Given the description of an element on the screen output the (x, y) to click on. 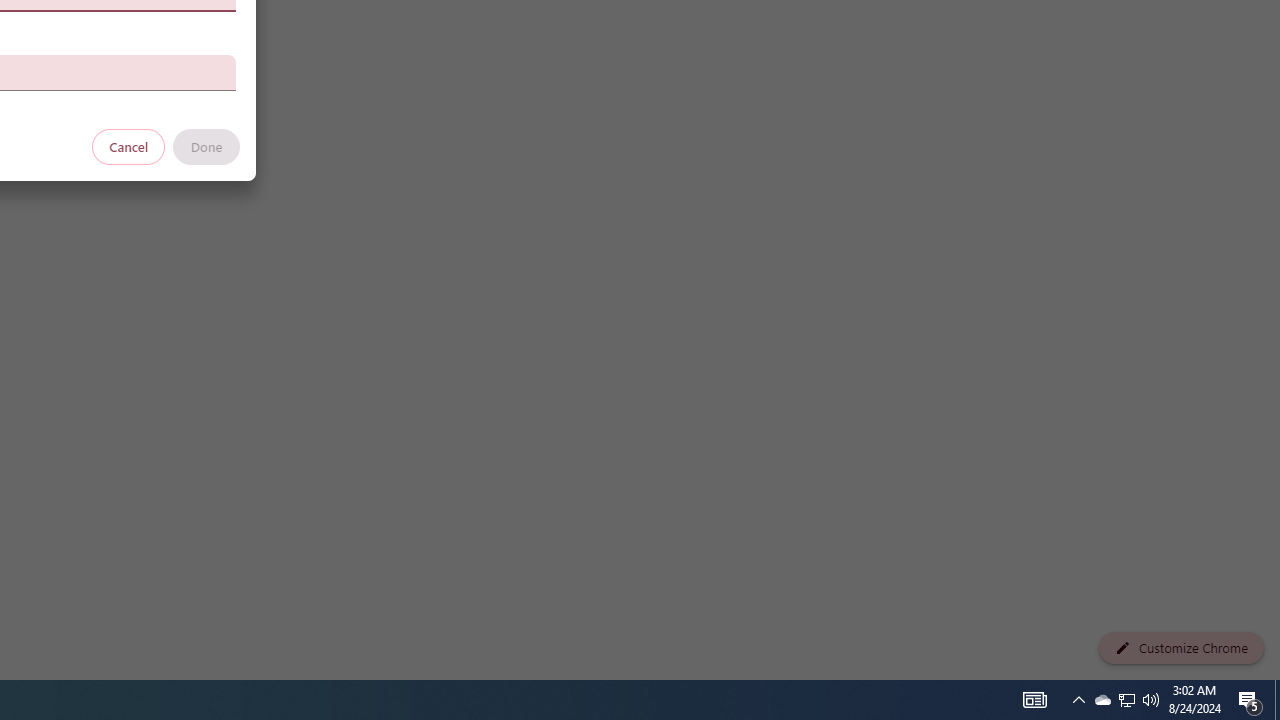
Cancel (129, 146)
Done (206, 146)
